Given the description of an element on the screen output the (x, y) to click on. 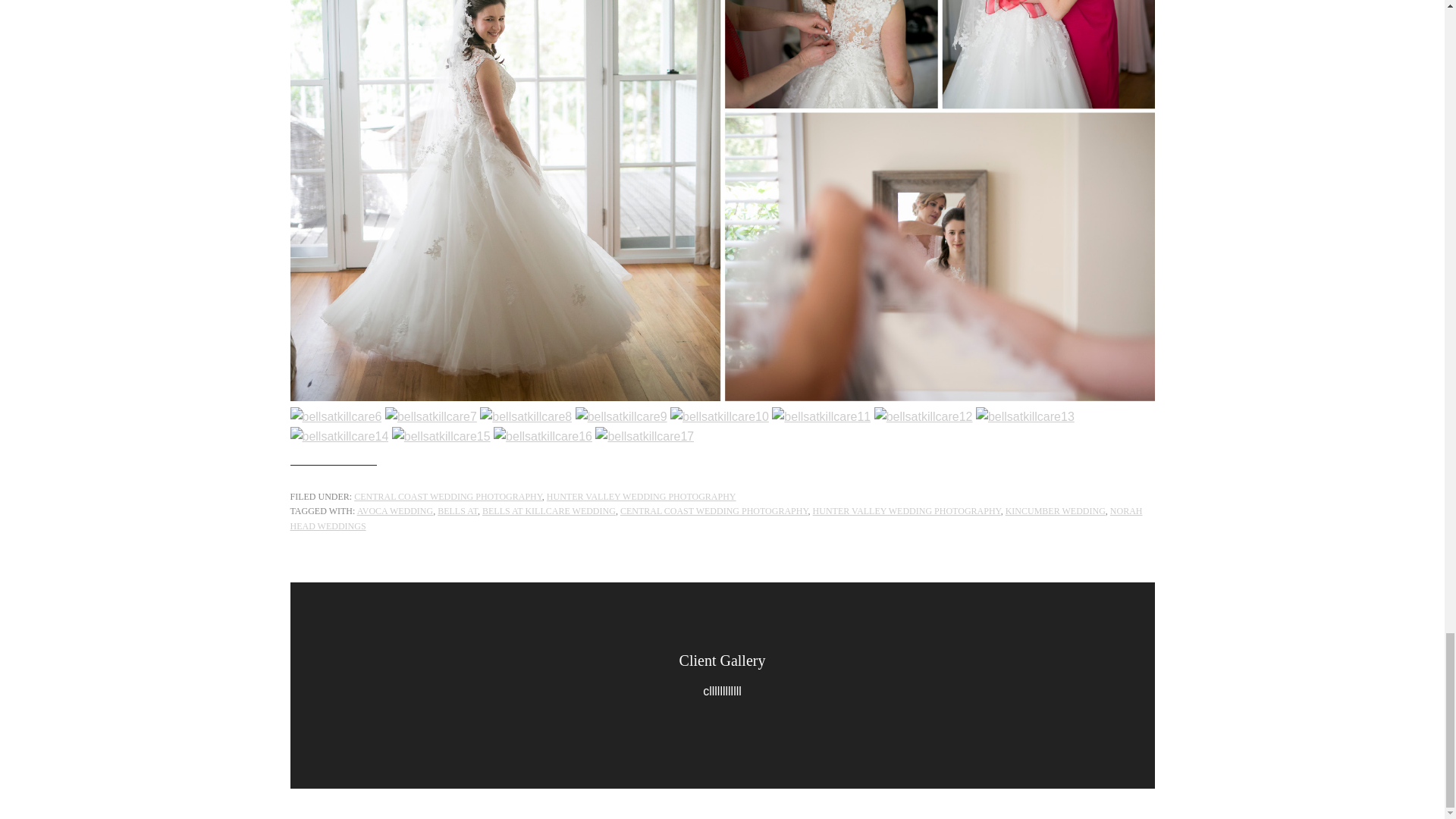
KINCUMBER WEDDING (1055, 511)
HUNTER VALLEY WEDDING PHOTOGRAPHY (906, 511)
BELLS AT KILLCARE WEDDING (548, 511)
HUNTER VALLEY WEDDING PHOTOGRAPHY (641, 495)
CENTRAL COAST WEDDING PHOTOGRAPHY (447, 495)
NORAH HEAD WEDDINGS (715, 518)
BELLS AT (457, 511)
AVOCA WEDDING (394, 511)
CENTRAL COAST WEDDING PHOTOGRAPHY (714, 511)
